Given the description of an element on the screen output the (x, y) to click on. 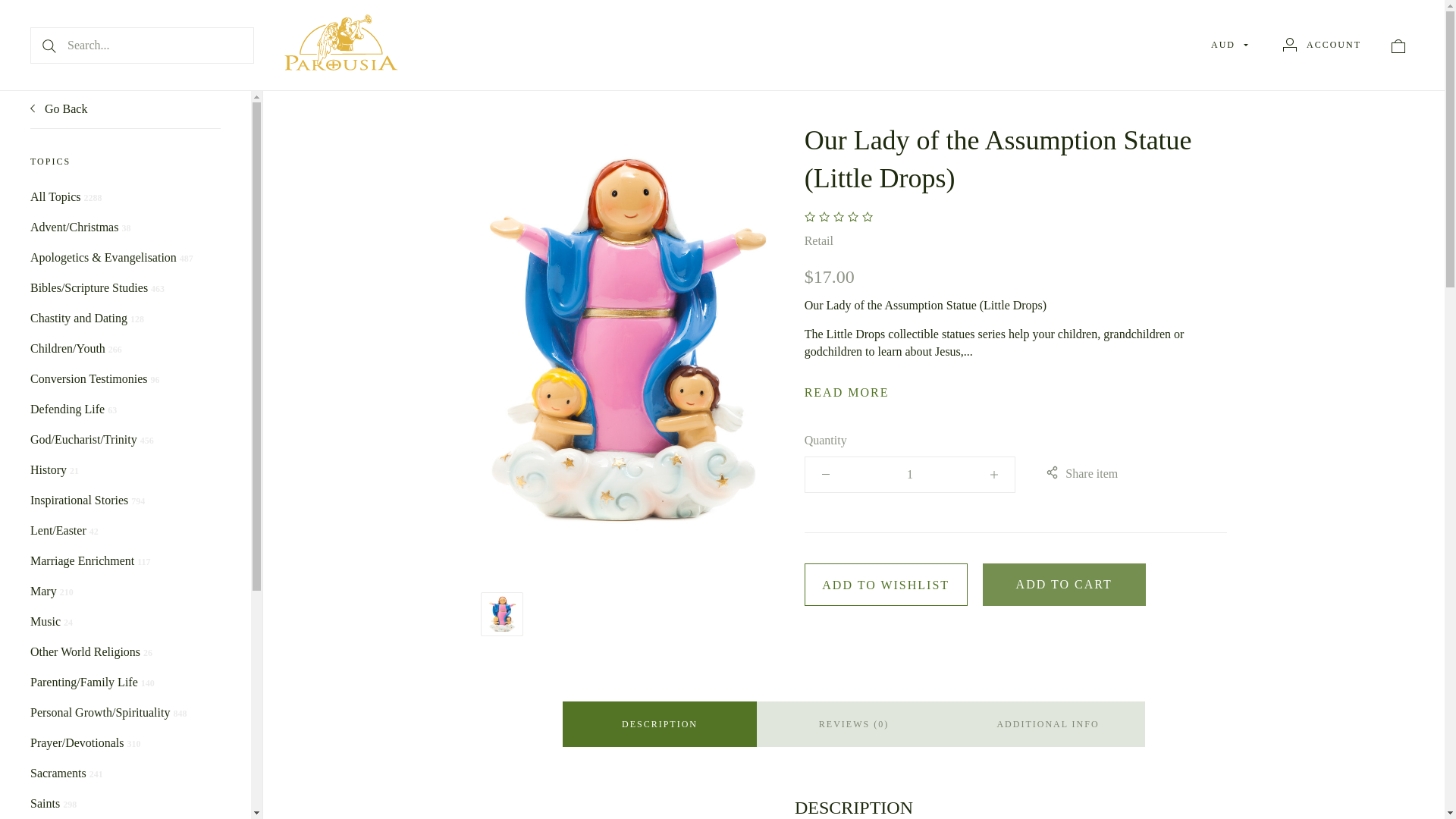
Account (1289, 44)
Go Back (58, 108)
1 (910, 474)
Cart (1398, 46)
ACCOUNT (1321, 44)
